Given the description of an element on the screen output the (x, y) to click on. 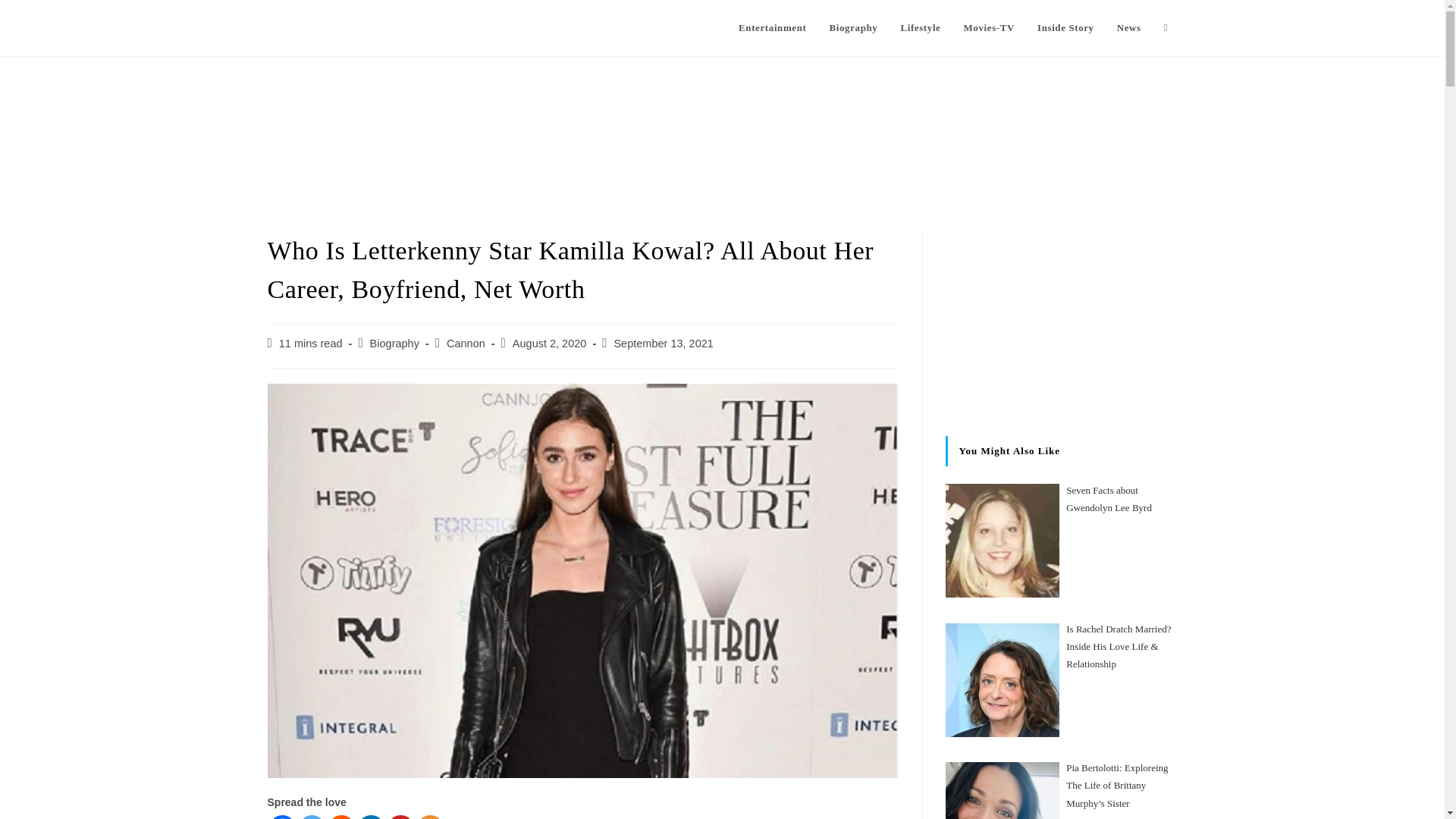
Cannon (465, 343)
Movies-TV (989, 28)
Inside Story (1065, 28)
Biography (394, 343)
More (430, 816)
Posts by Cannon (465, 343)
Linkedin (371, 816)
Facebook (281, 816)
Reddit (340, 816)
Pinterest (400, 816)
